Given the description of an element on the screen output the (x, y) to click on. 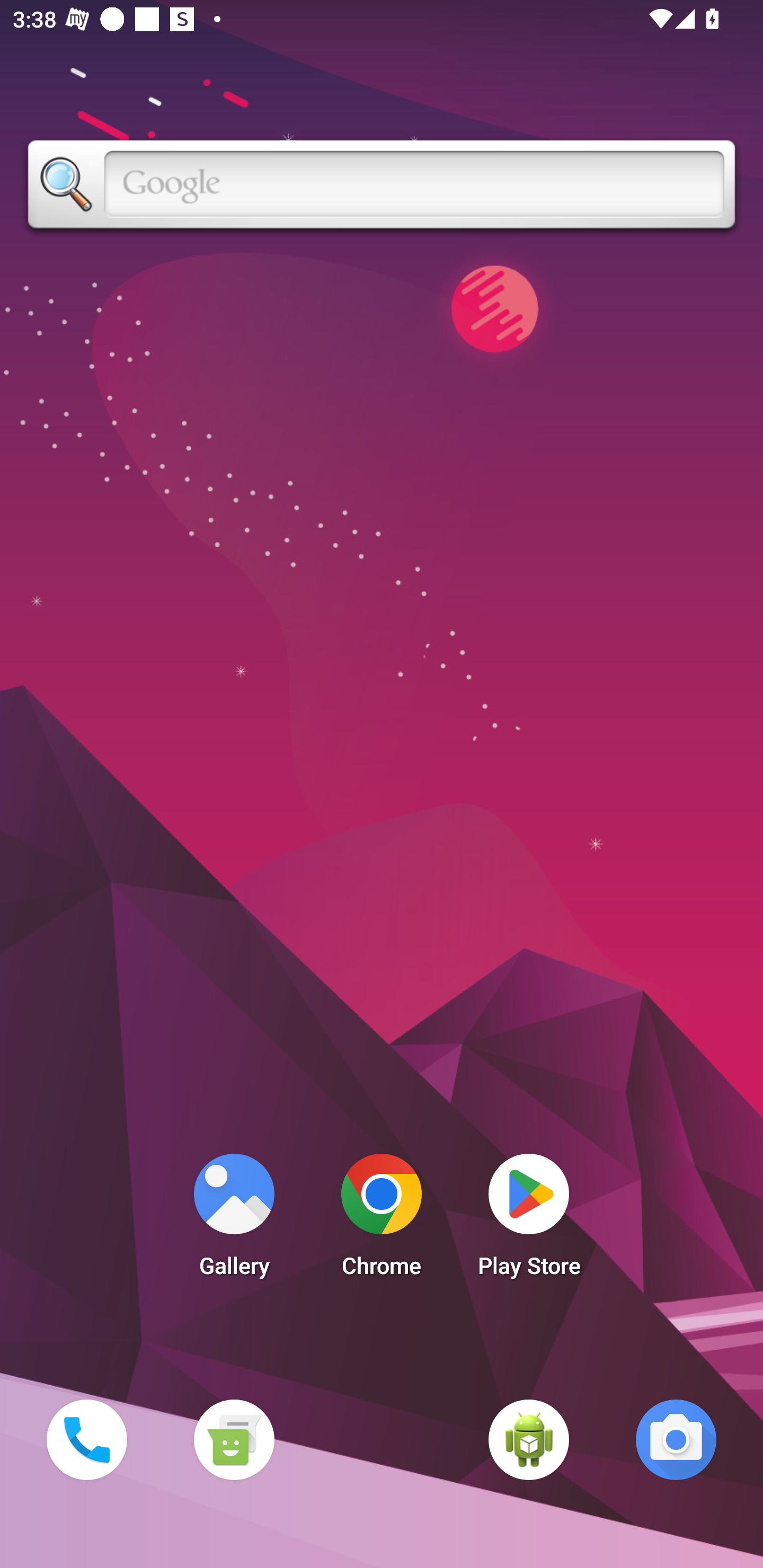
Gallery (233, 1220)
Chrome (381, 1220)
Play Store (528, 1220)
Phone (86, 1439)
Messaging (233, 1439)
WebView Browser Tester (528, 1439)
Camera (676, 1439)
